Given the description of an element on the screen output the (x, y) to click on. 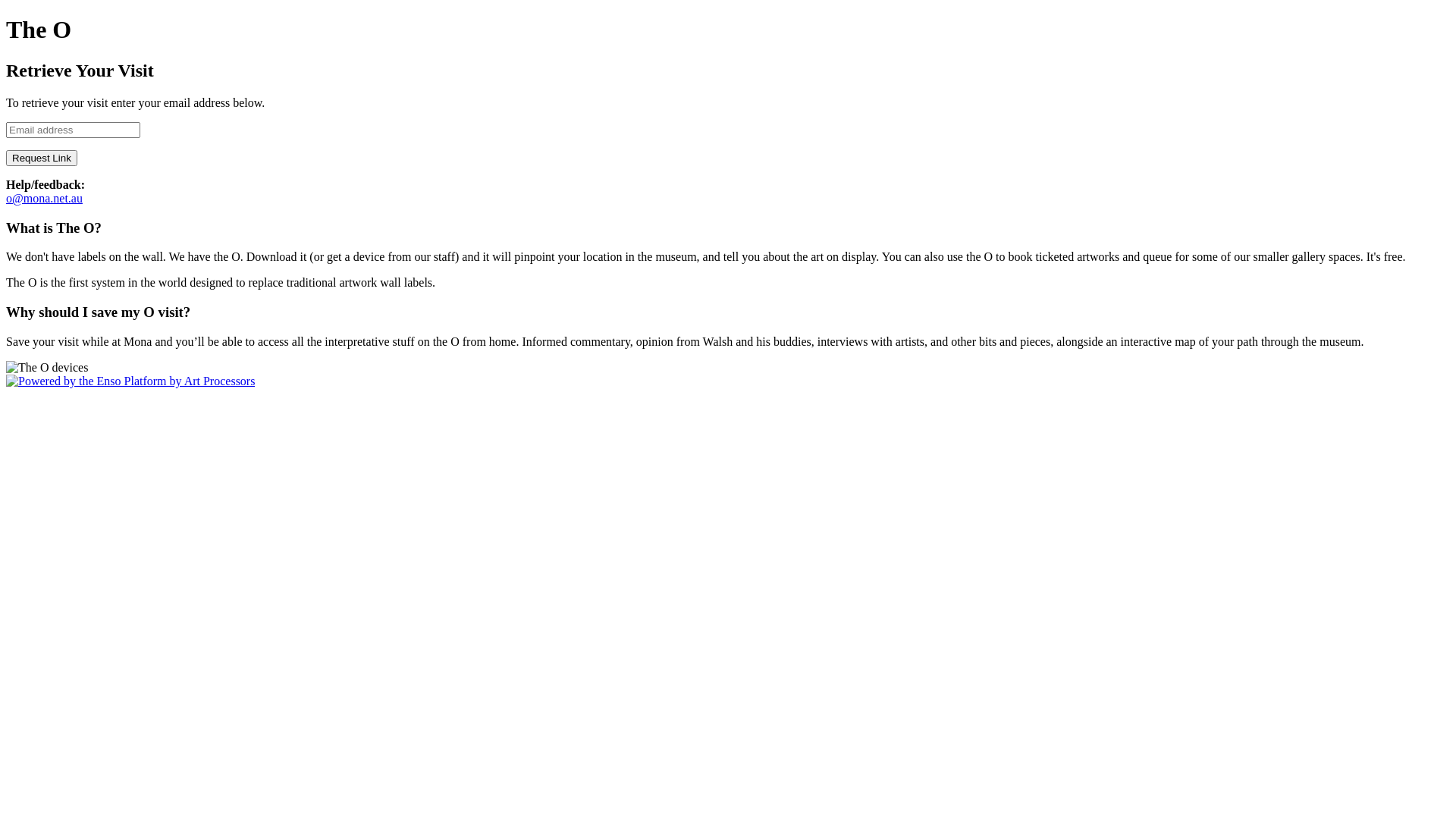
o@mona.net.au Element type: text (44, 197)
Request Link Element type: text (41, 158)
